Given the description of an element on the screen output the (x, y) to click on. 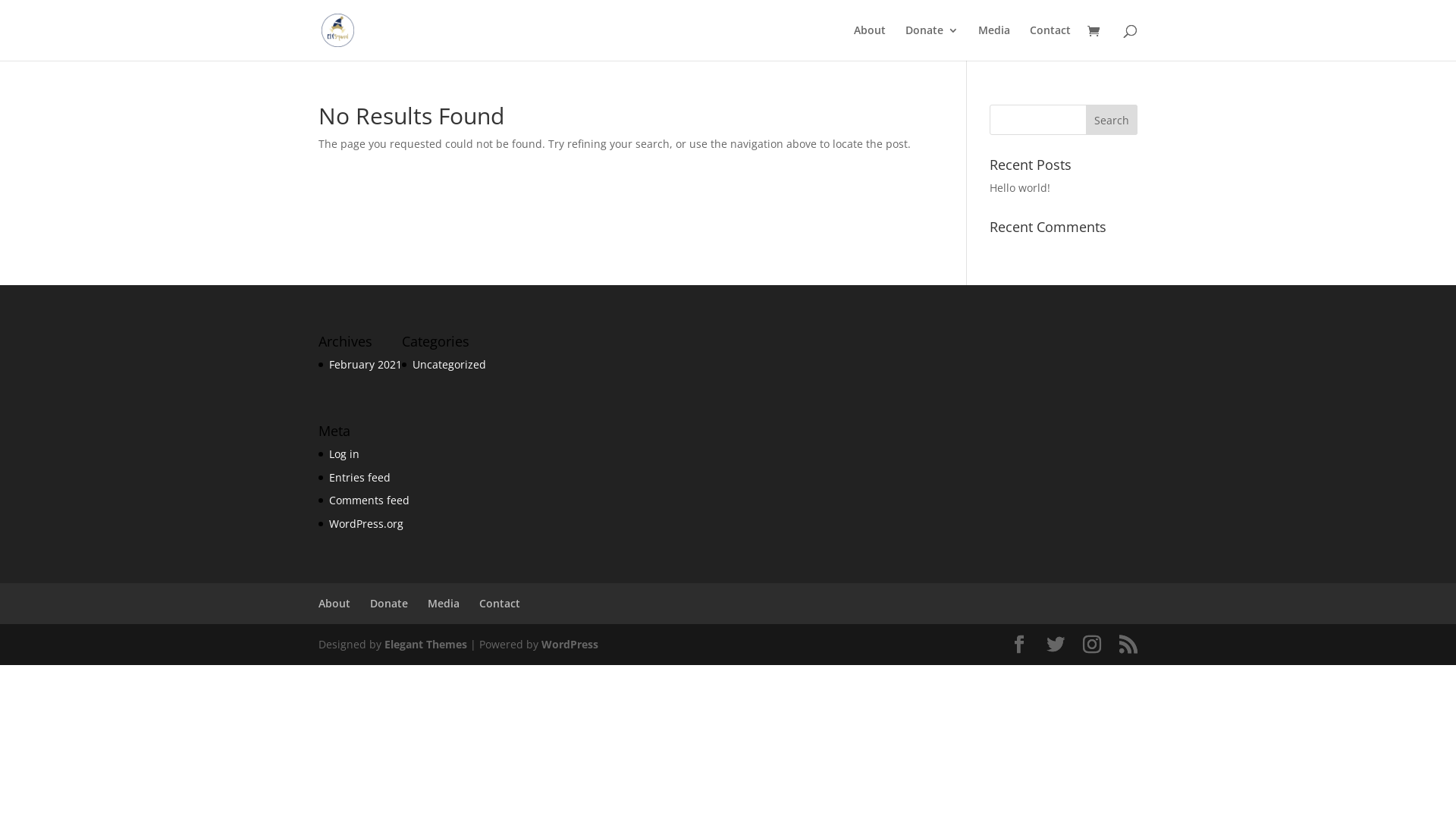
Hello world! Element type: text (1019, 187)
Donate Element type: text (388, 603)
About Element type: text (869, 42)
About Element type: text (334, 603)
WordPress Element type: text (569, 644)
February 2021 Element type: text (365, 364)
Contact Element type: text (1049, 42)
Comments feed Element type: text (369, 499)
Search Element type: text (1111, 119)
Donate Element type: text (931, 42)
WordPress.org Element type: text (366, 523)
Media Element type: text (994, 42)
Uncategorized Element type: text (449, 364)
Media Element type: text (443, 603)
Log in Element type: text (344, 453)
Contact Element type: text (499, 603)
Elegant Themes Element type: text (425, 644)
Entries feed Element type: text (359, 477)
